Given the description of an element on the screen output the (x, y) to click on. 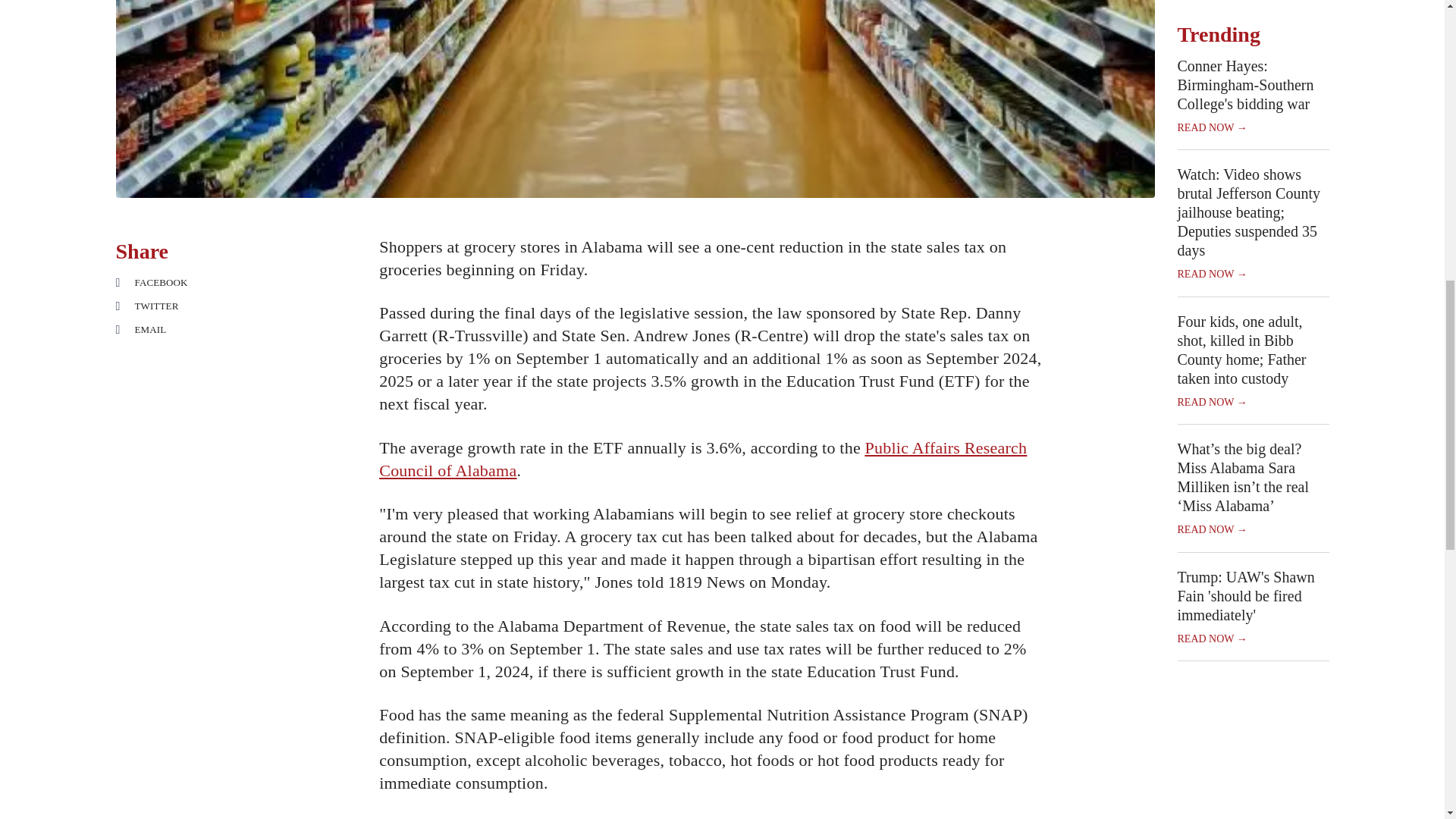
FACEBOOK (181, 282)
